Given the description of an element on the screen output the (x, y) to click on. 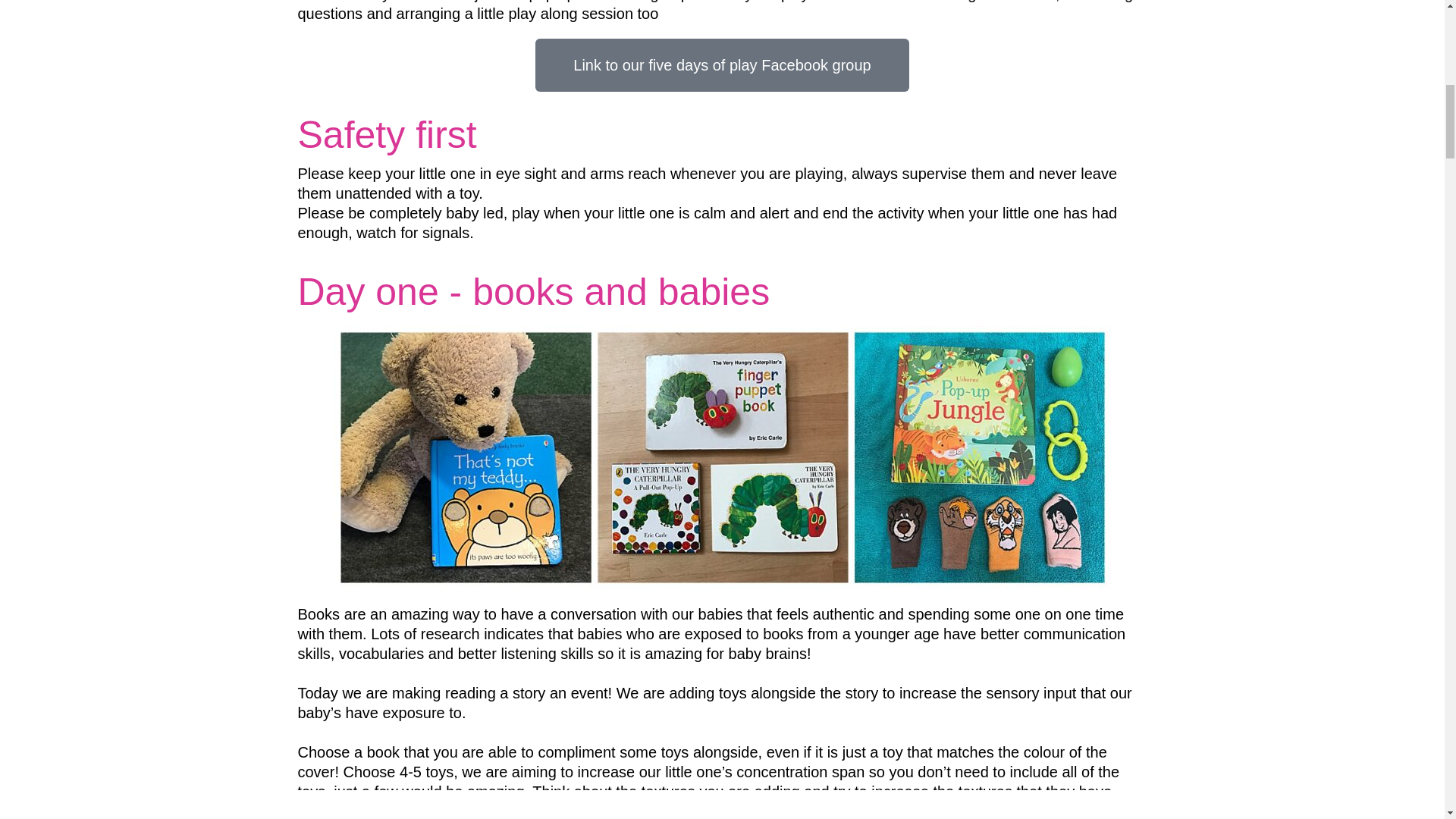
Link to our five days of play Facebook group (721, 64)
